Given the description of an element on the screen output the (x, y) to click on. 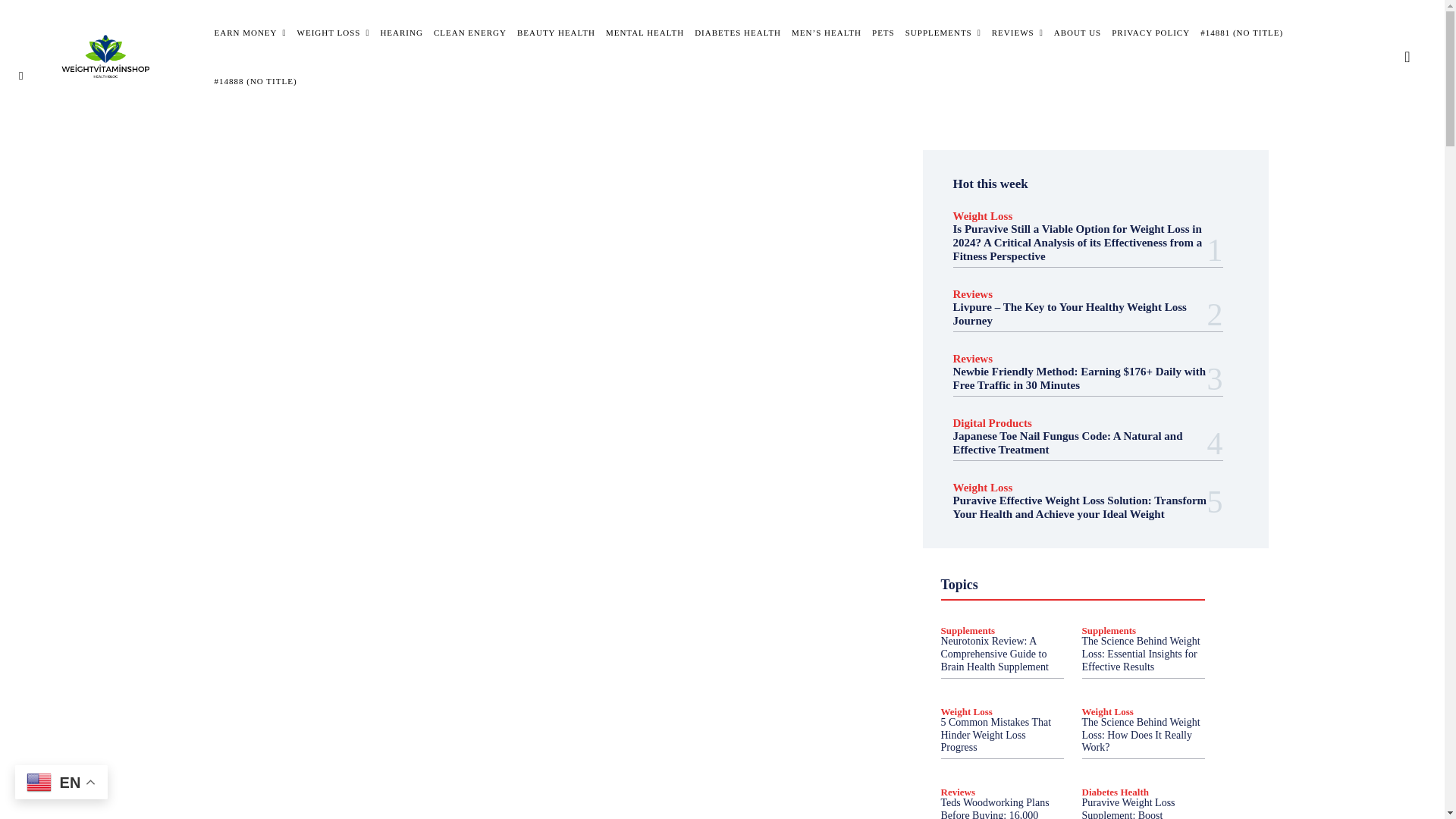
PRIVACY POLICY (1150, 32)
WEIGHT LOSS (333, 32)
MENTAL HEALTH (644, 32)
CLEAN ENERGY (469, 32)
REVIEWS (1017, 32)
DIABETES HEALTH (737, 32)
HEARING (401, 32)
BEAUTY HEALTH (555, 32)
EARN MONEY (249, 32)
SUPPLEMENTS (943, 32)
